Given the description of an element on the screen output the (x, y) to click on. 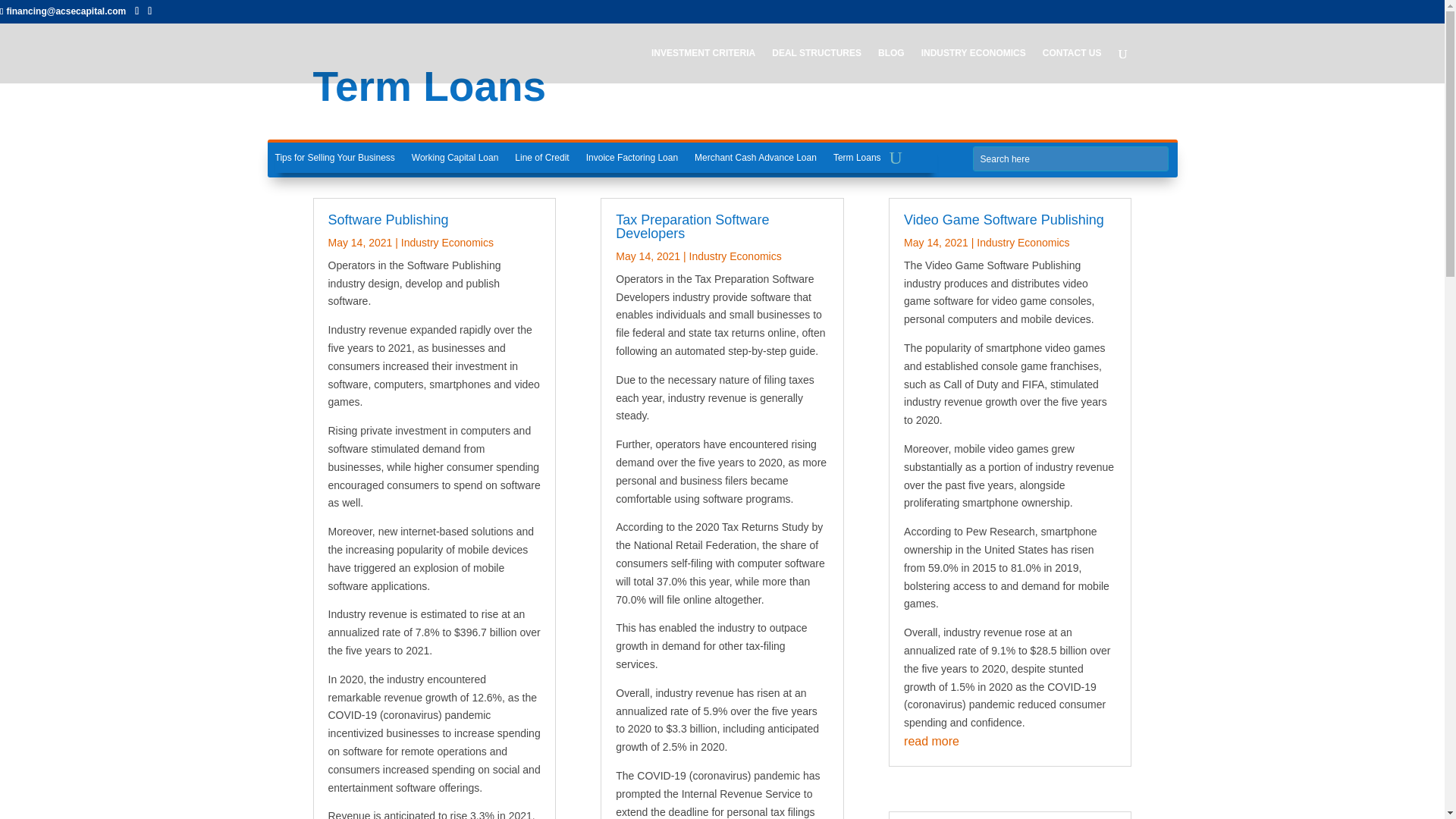
INVESTMENT CRITERIA (702, 65)
Term Loans (856, 160)
Invoice Factoring Loan (632, 160)
CONTACT US (1072, 65)
Tips for Selling Your Business (334, 160)
Software Publishing (387, 219)
Industry Economics (447, 242)
Search (24, 11)
Working Capital Loan (455, 160)
Line of Credit (542, 160)
